Given the description of an element on the screen output the (x, y) to click on. 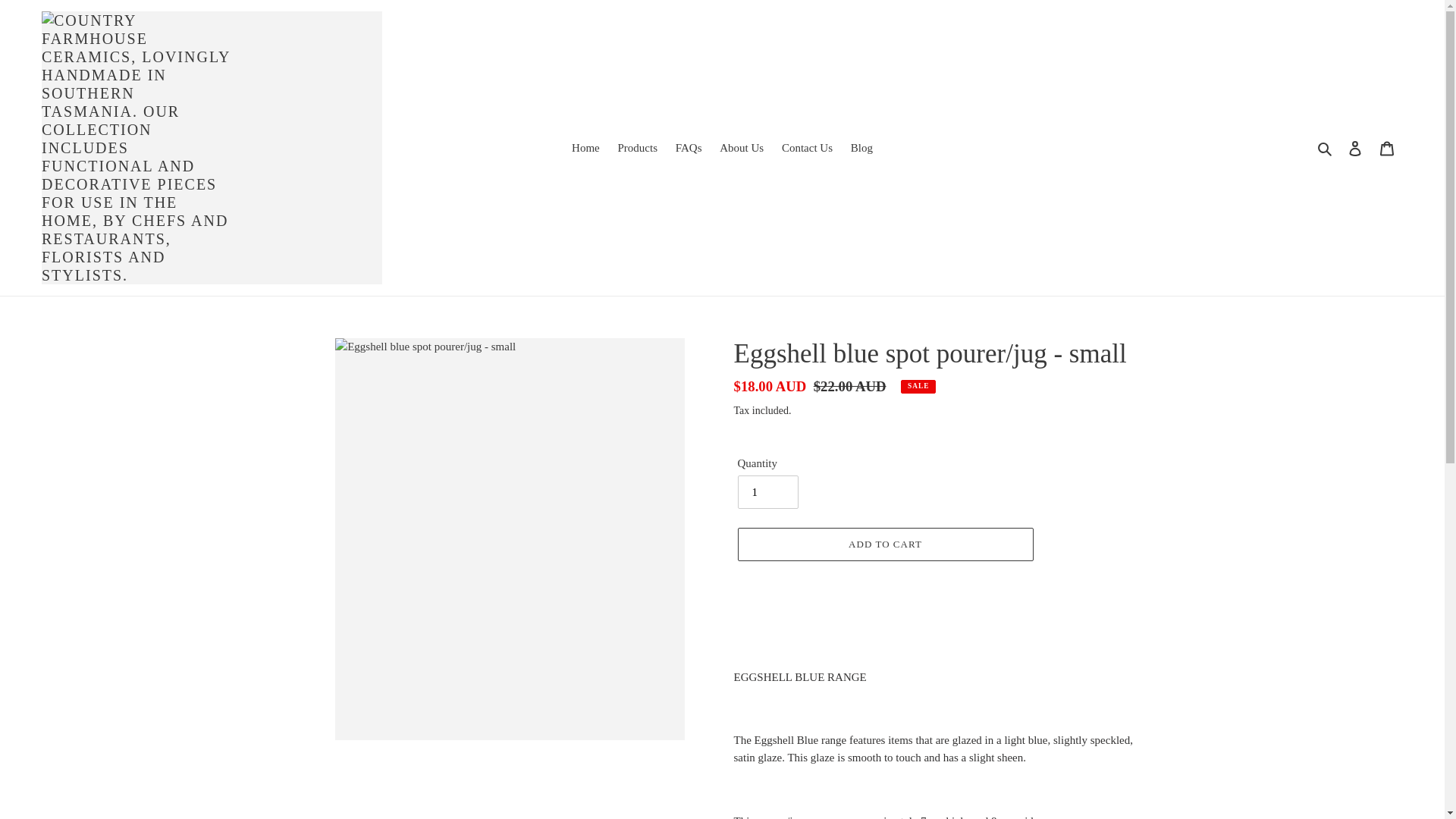
About Us (741, 147)
Home (585, 147)
1 (766, 491)
FAQs (689, 147)
Cart (1387, 147)
Blog (861, 147)
ADD TO CART (884, 544)
Contact Us (807, 147)
Products (637, 147)
Search (1326, 148)
Log in (1355, 147)
